Given the description of an element on the screen output the (x, y) to click on. 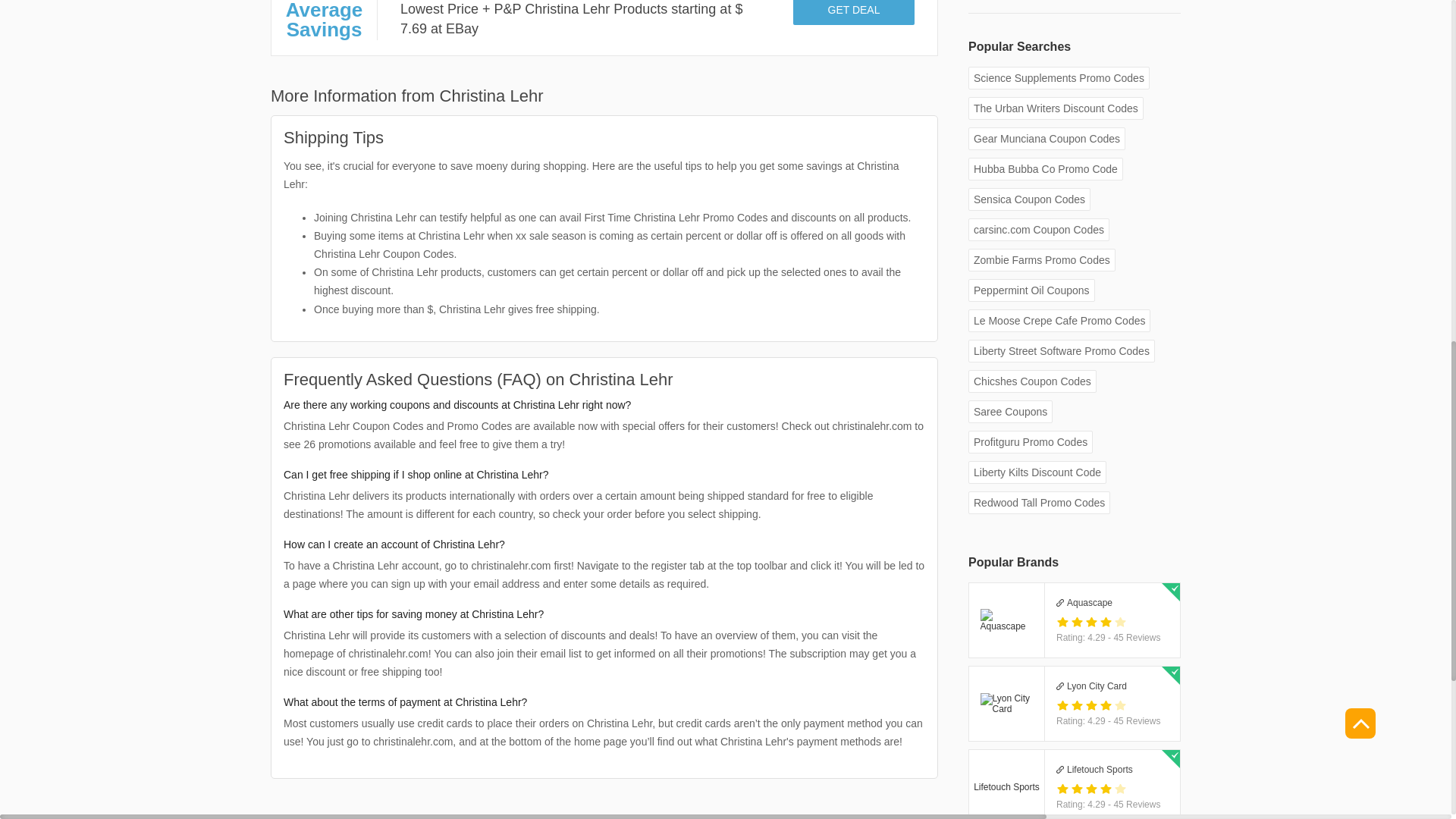
carsinc.com Coupon Codes (1038, 229)
Good (1090, 621)
Chicshes Coupon Codes (1032, 381)
GET DEAL (853, 12)
Liberty Street Software Promo Codes (1061, 350)
Hubba Bubba Co Promo Code (1045, 169)
Sensica Coupon Codes (1029, 199)
Profitguru Promo Codes (1030, 441)
Liberty Kilts Discount Code (1037, 472)
Excellent (1119, 621)
Science Supplements Promo Codes (1059, 77)
Peppermint Oil Coupons (1031, 290)
The Urban Writers Discount Codes (1074, 784)
Zombie Farms Promo Codes (1055, 108)
